Given the description of an element on the screen output the (x, y) to click on. 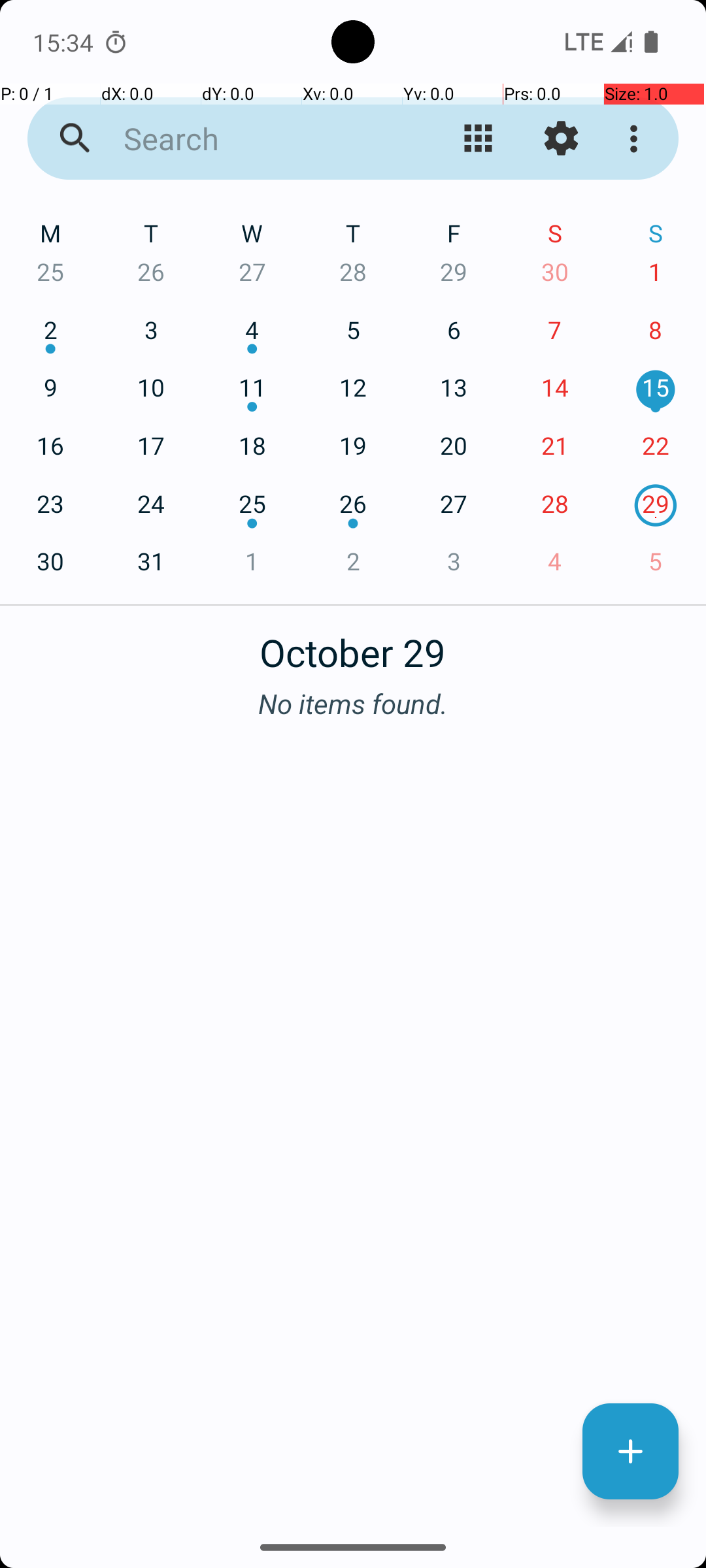
October 29 Element type: android.widget.TextView (352, 644)
